Given the description of an element on the screen output the (x, y) to click on. 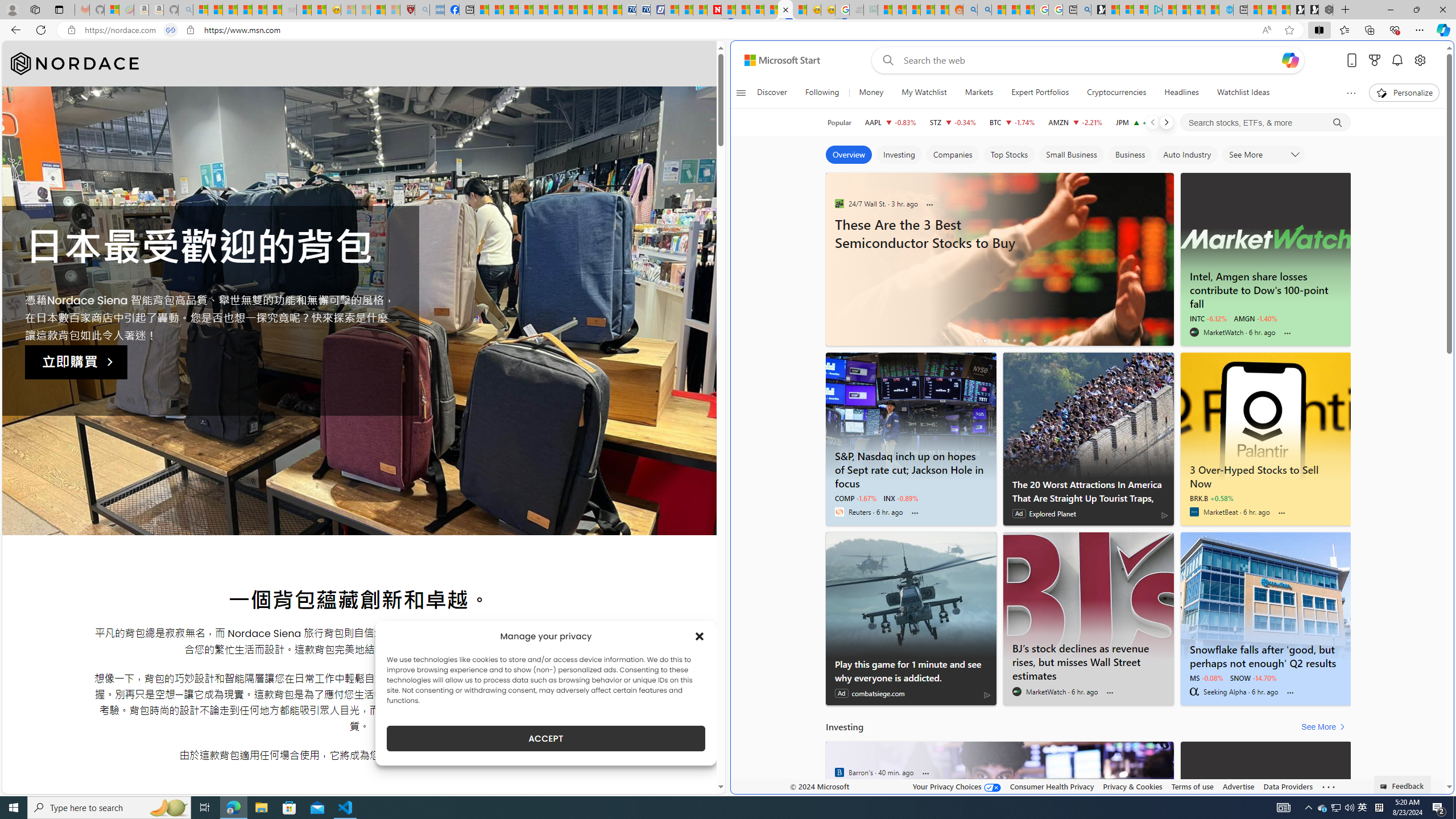
Barron's (839, 772)
Top Stocks (1008, 154)
24/7 Wall St. (839, 203)
Watchlist Ideas (1243, 92)
